Given the description of an element on the screen output the (x, y) to click on. 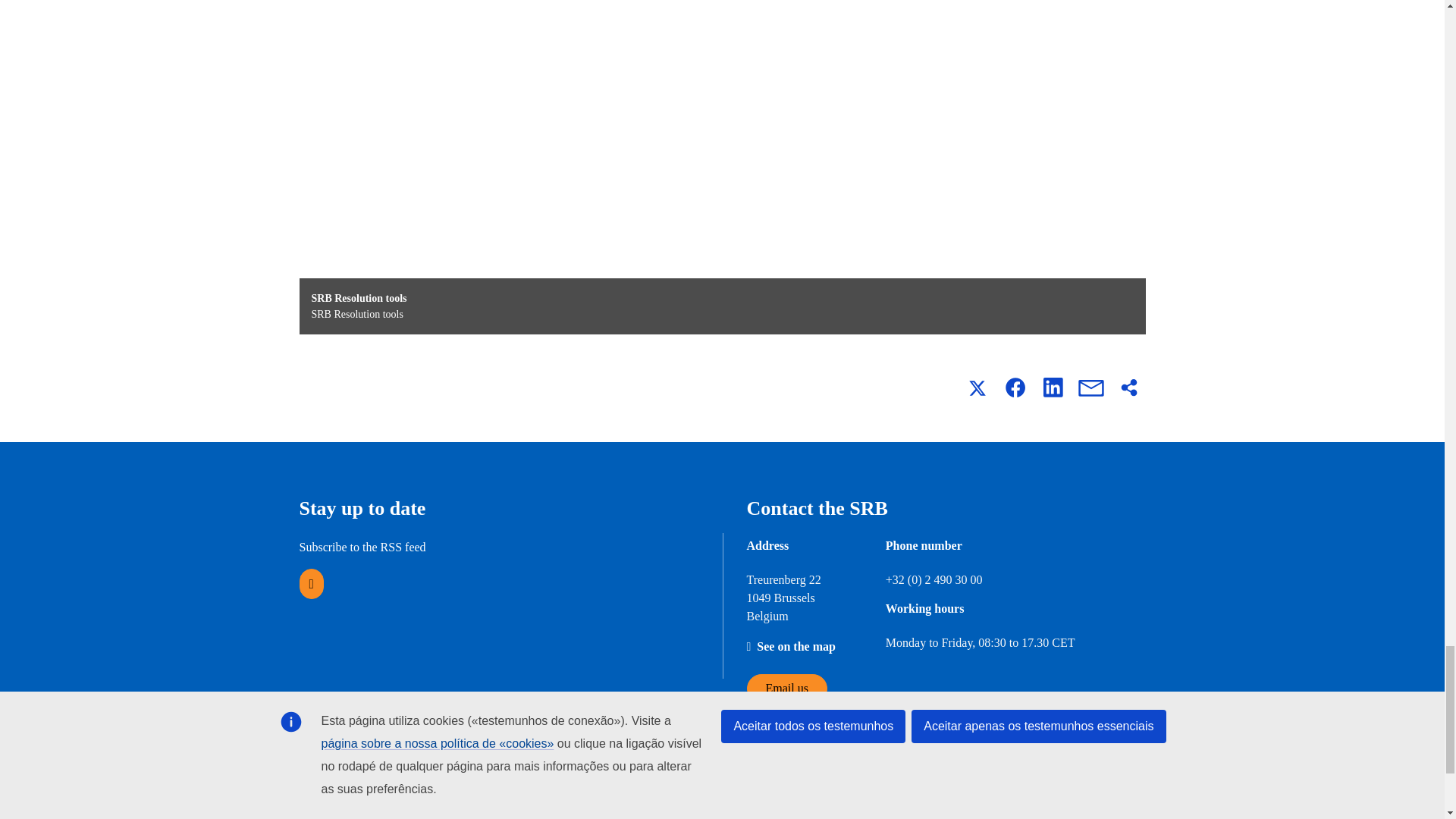
Partilhar via LinkedIn (1051, 387)
Partilhar via Facebook (1013, 387)
Partilhar via X (976, 387)
